Given the description of an element on the screen output the (x, y) to click on. 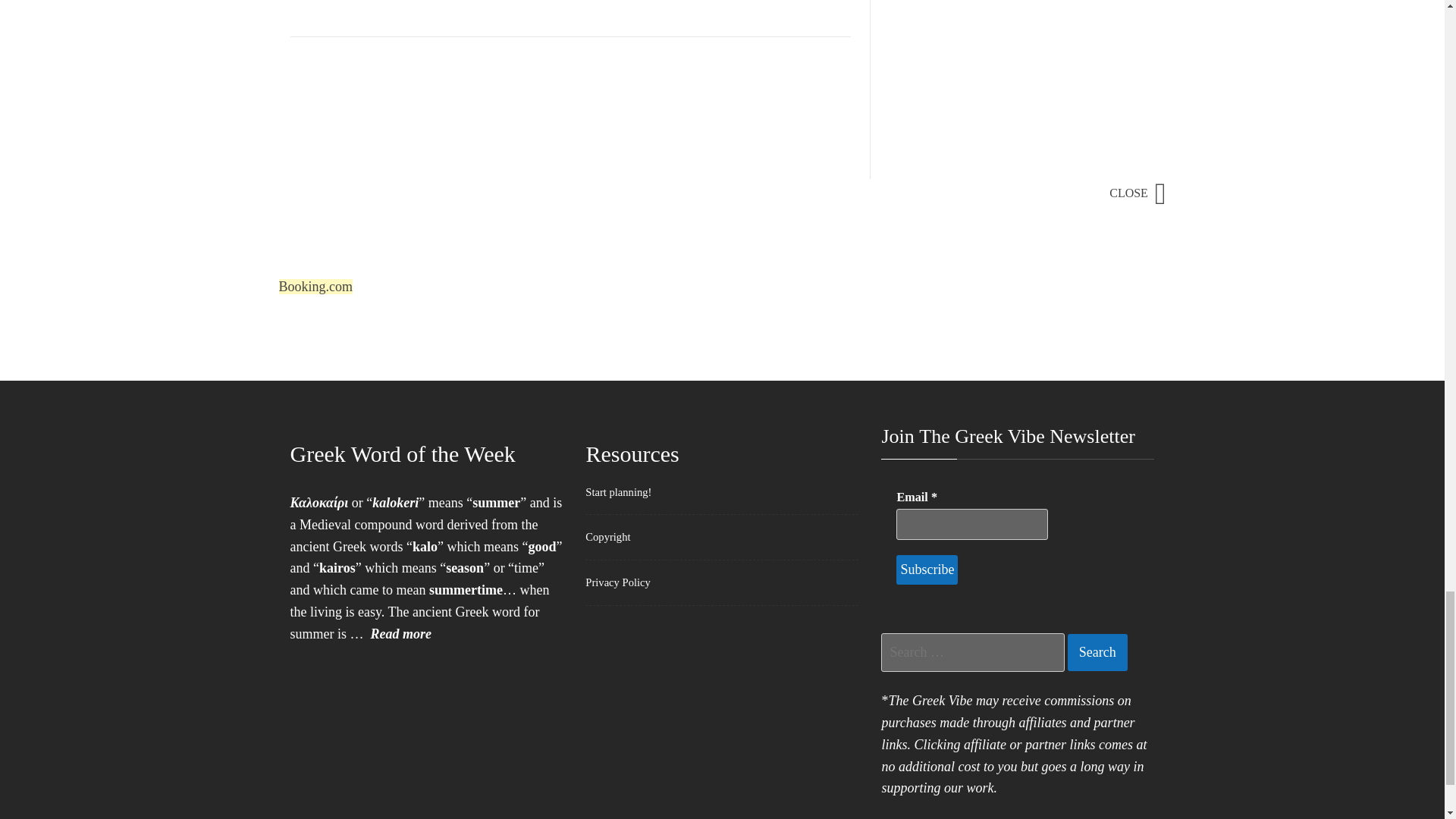
Search (1096, 651)
Email (972, 523)
Search (1096, 651)
Subscribe (927, 569)
